Given the description of an element on the screen output the (x, y) to click on. 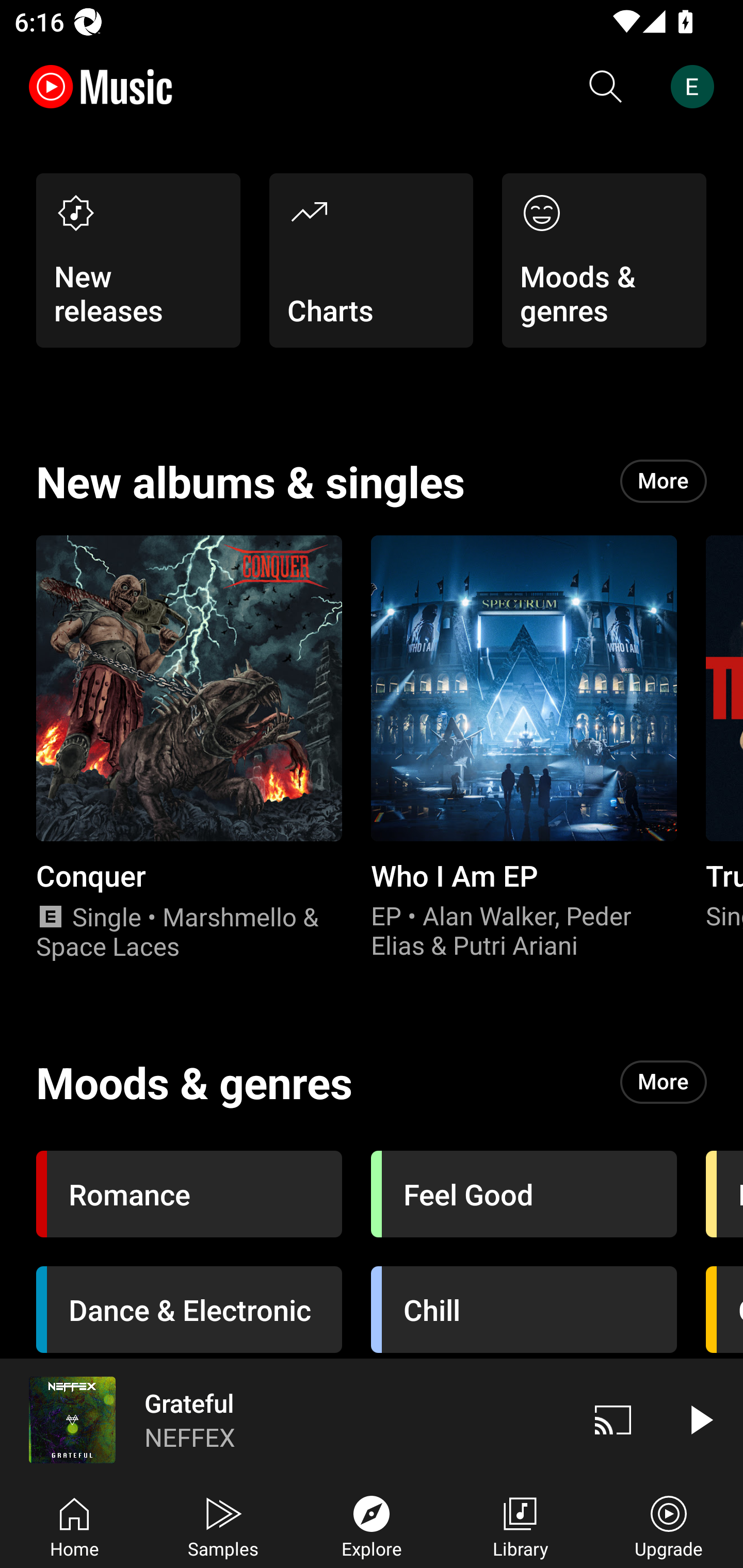
Search (605, 86)
Account (696, 86)
Cast. Disconnected (612, 1419)
Play video (699, 1419)
Home (74, 1524)
Samples (222, 1524)
Library (519, 1524)
Upgrade (668, 1524)
